Given the description of an element on the screen output the (x, y) to click on. 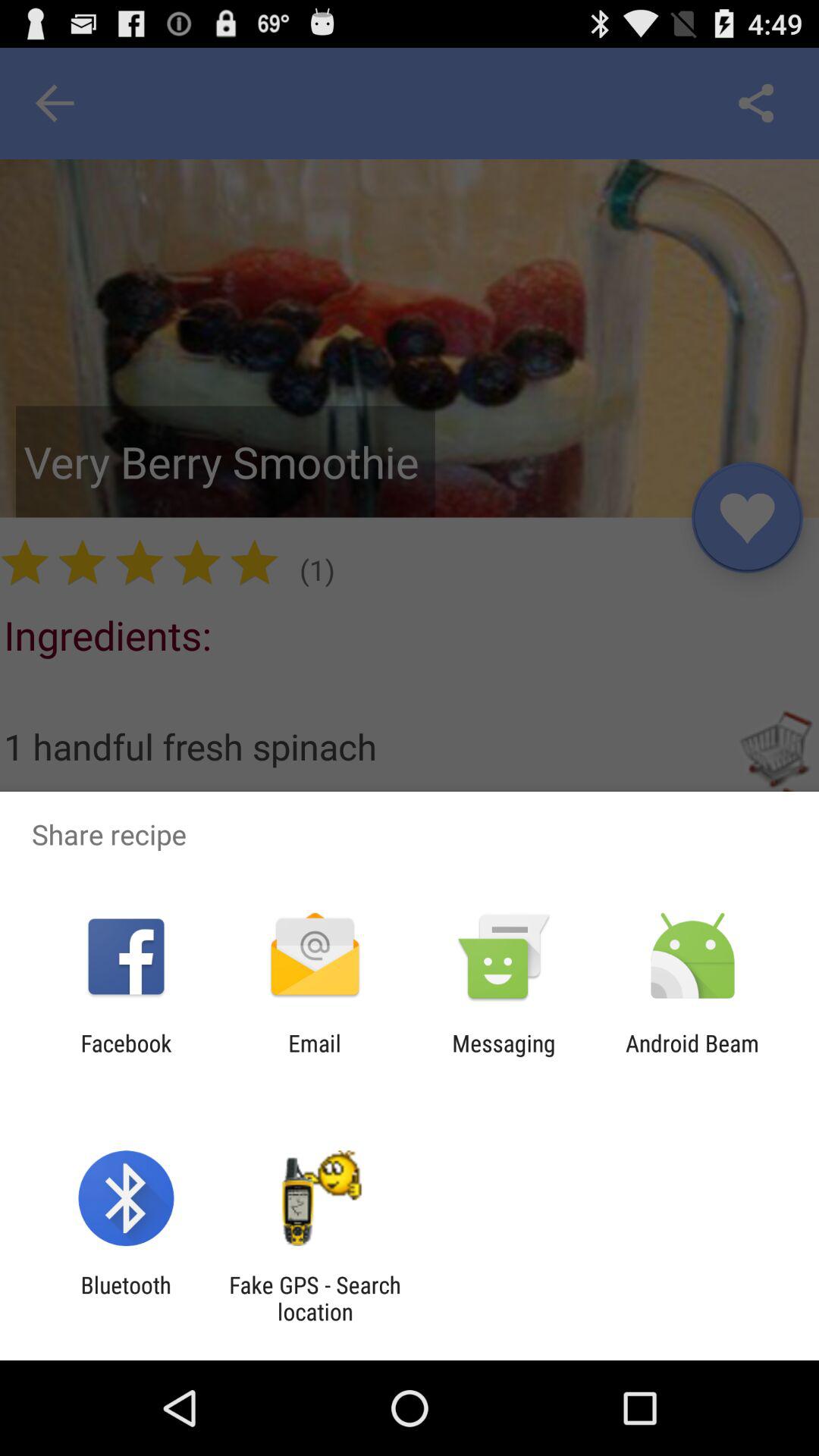
swipe to fake gps search icon (314, 1298)
